Given the description of an element on the screen output the (x, y) to click on. 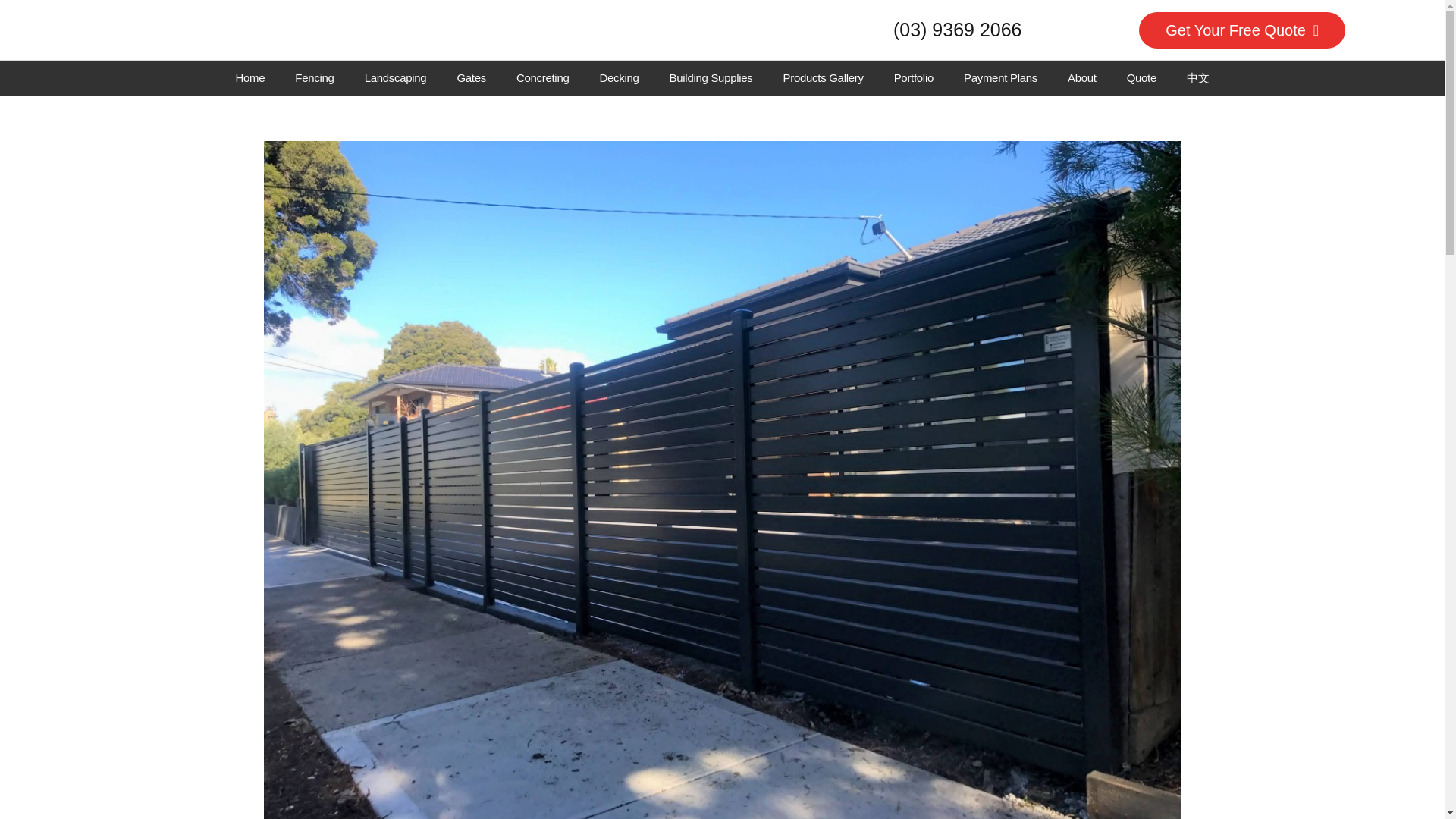
Building Supplies (710, 77)
Quote (1142, 77)
Fencing (314, 77)
Payment Plans (1000, 77)
Home (251, 77)
About (1082, 77)
Get Your Free Quote (1241, 30)
Gates (470, 77)
Landscaping (395, 77)
Portfolio (914, 77)
